Given the description of an element on the screen output the (x, y) to click on. 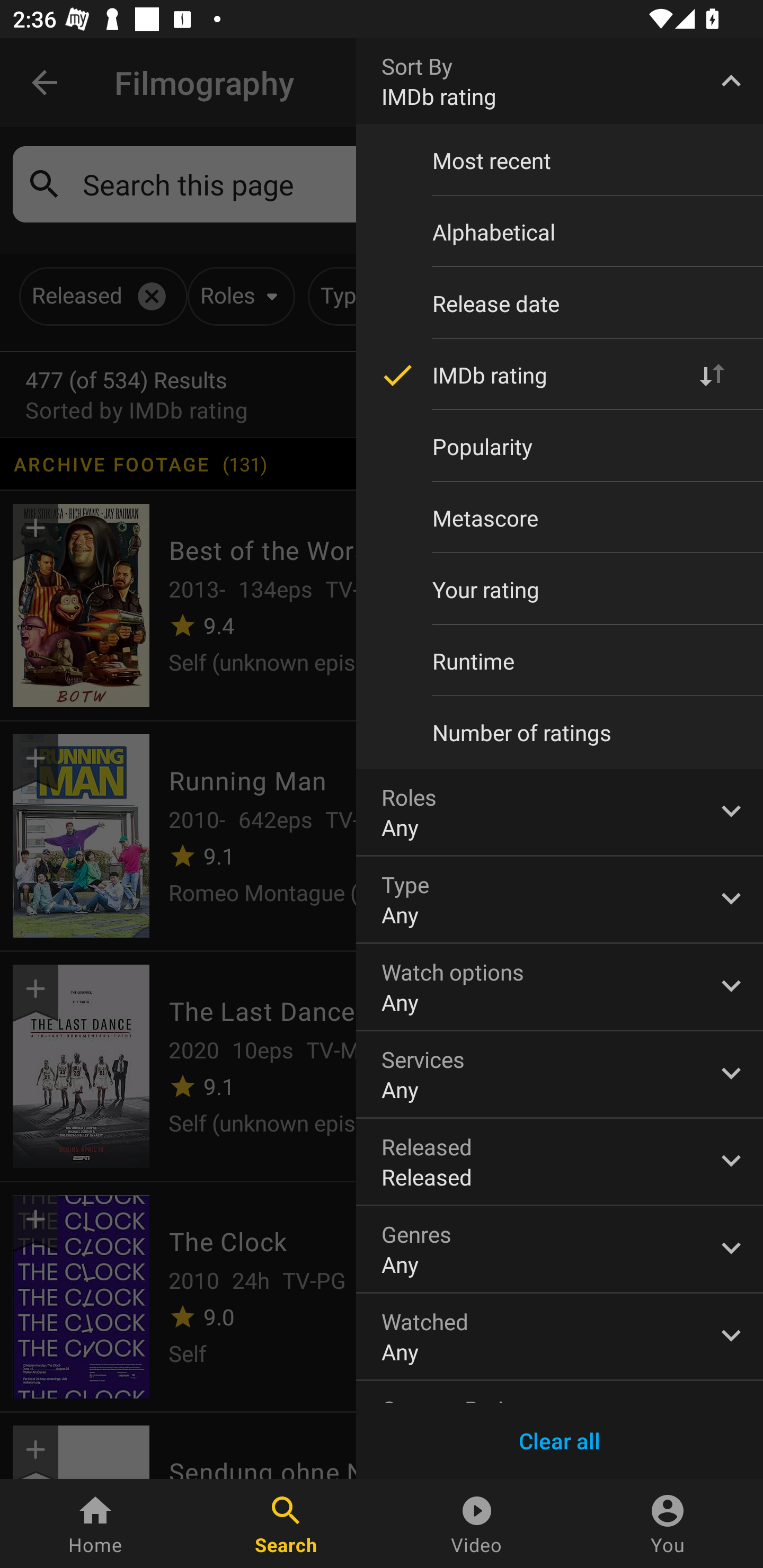
Sort By IMDb rating (559, 80)
Most recent (559, 160)
Alphabetical (559, 231)
Release date (559, 303)
IMDb rating (559, 374)
Popularity (559, 445)
Metascore (559, 517)
Your rating (559, 589)
Runtime (559, 660)
Number of ratings (559, 732)
Roles Any (559, 811)
Type Any (559, 899)
Watch options Any (559, 986)
Services Any (559, 1073)
Released (559, 1161)
Genres Any (559, 1248)
Watched Any (559, 1336)
Clear all (559, 1440)
Home (95, 1523)
Video (476, 1523)
You (667, 1523)
